Given the description of an element on the screen output the (x, y) to click on. 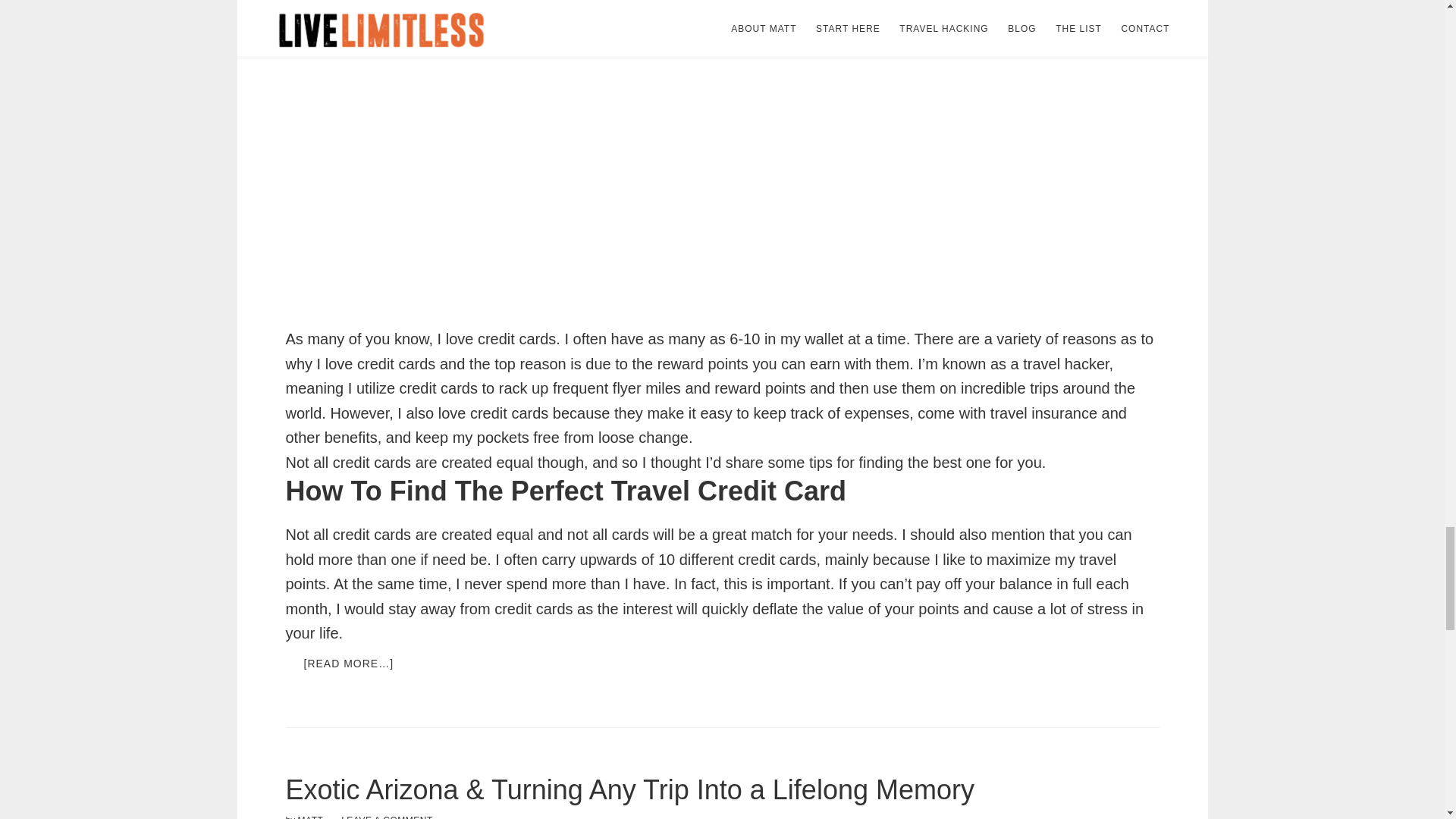
MATT (310, 816)
